Given the description of an element on the screen output the (x, y) to click on. 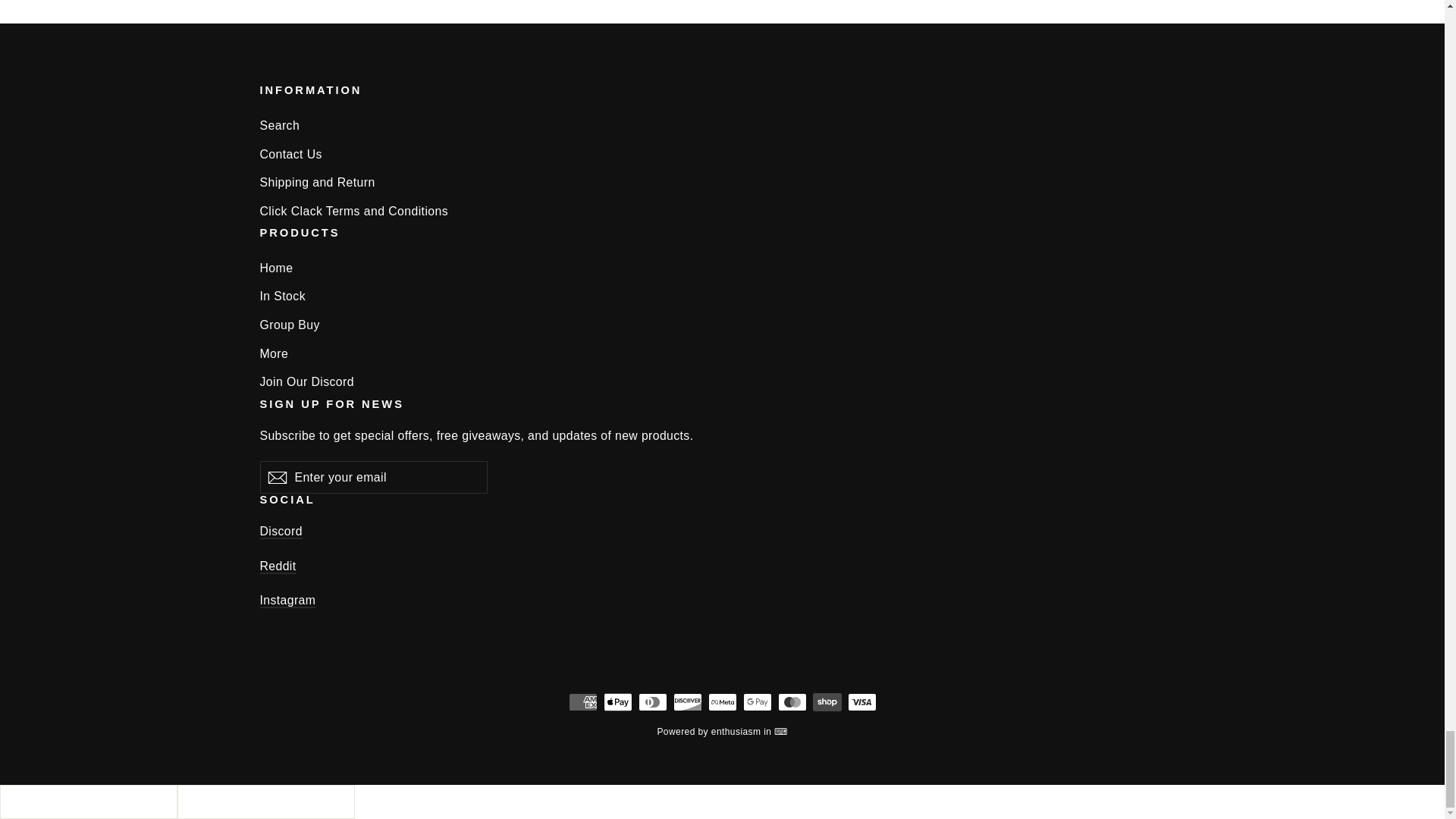
Mastercard (791, 701)
American Express (582, 701)
ClickClack.io Instagram (287, 600)
ClickClack.io Discord (280, 531)
Discover (686, 701)
ClickClack.io Reddit (277, 566)
Visa (861, 701)
Apple Pay (617, 701)
Google Pay (756, 701)
Shop Pay (826, 701)
Meta Pay (721, 701)
Diners Club (652, 701)
